Given the description of an element on the screen output the (x, y) to click on. 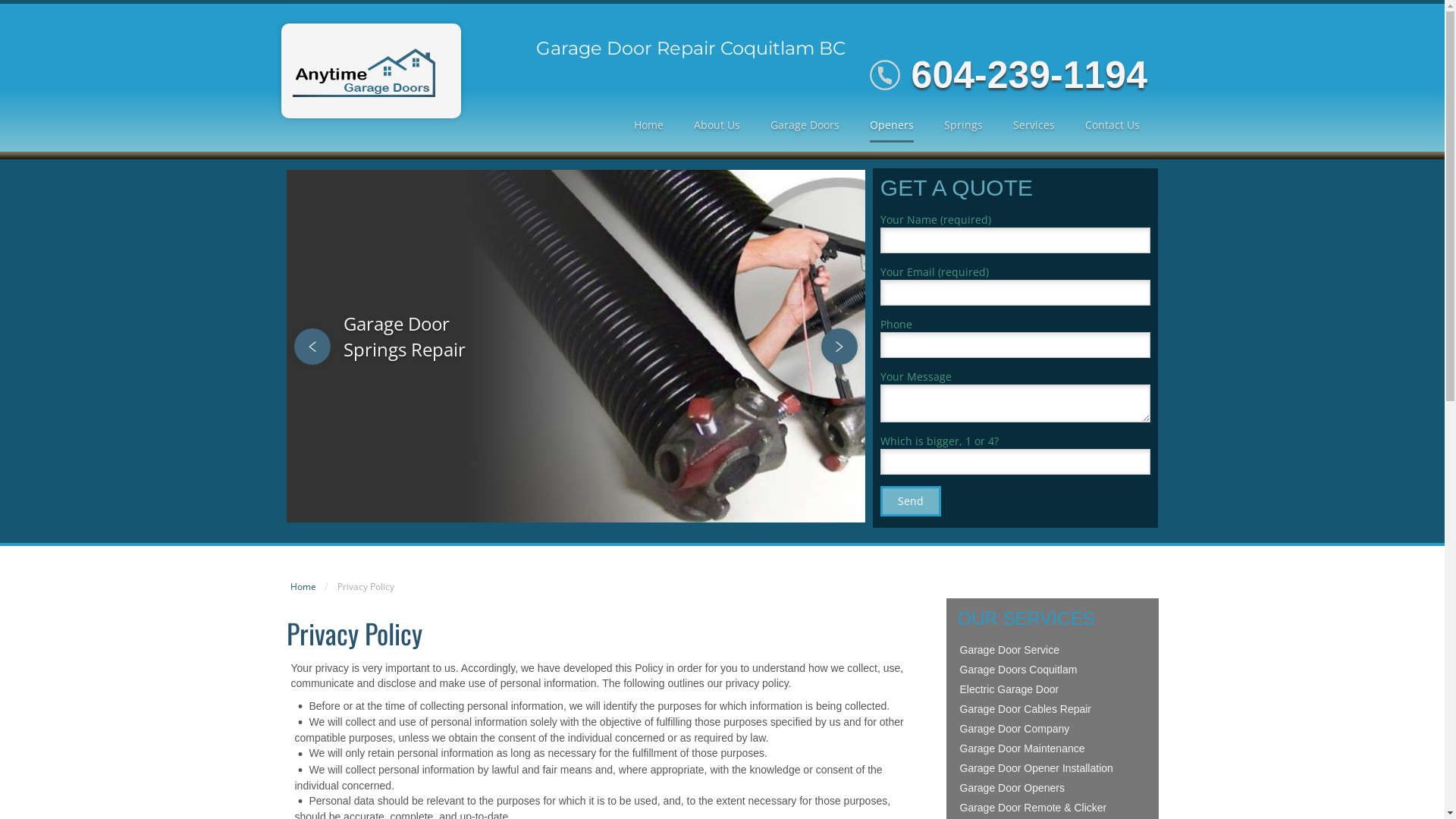
Garage Door Opener Installation Element type: text (1051, 768)
Send Element type: text (910, 501)
Contact Us Element type: text (1112, 125)
Garage Doors Element type: text (804, 125)
Openers Element type: text (891, 125)
Electric Garage Door Element type: text (1051, 689)
Garage Door Company Element type: text (1051, 728)
Home Element type: text (648, 125)
604-239-1194 Element type: text (1029, 74)
Garage Doors Coquitlam Element type: text (1051, 669)
Garage Door Openers Element type: text (1051, 787)
Garage Door Service Element type: text (1051, 649)
Garage Door Cables Repair Element type: text (1051, 708)
Garage Door Remote & Clicker Element type: text (1051, 807)
Garage Door Maintenance Element type: text (1051, 748)
Services Element type: text (1033, 125)
Springs Element type: text (963, 125)
About Us Element type: text (716, 125)
Home Element type: text (302, 586)
